Given the description of an element on the screen output the (x, y) to click on. 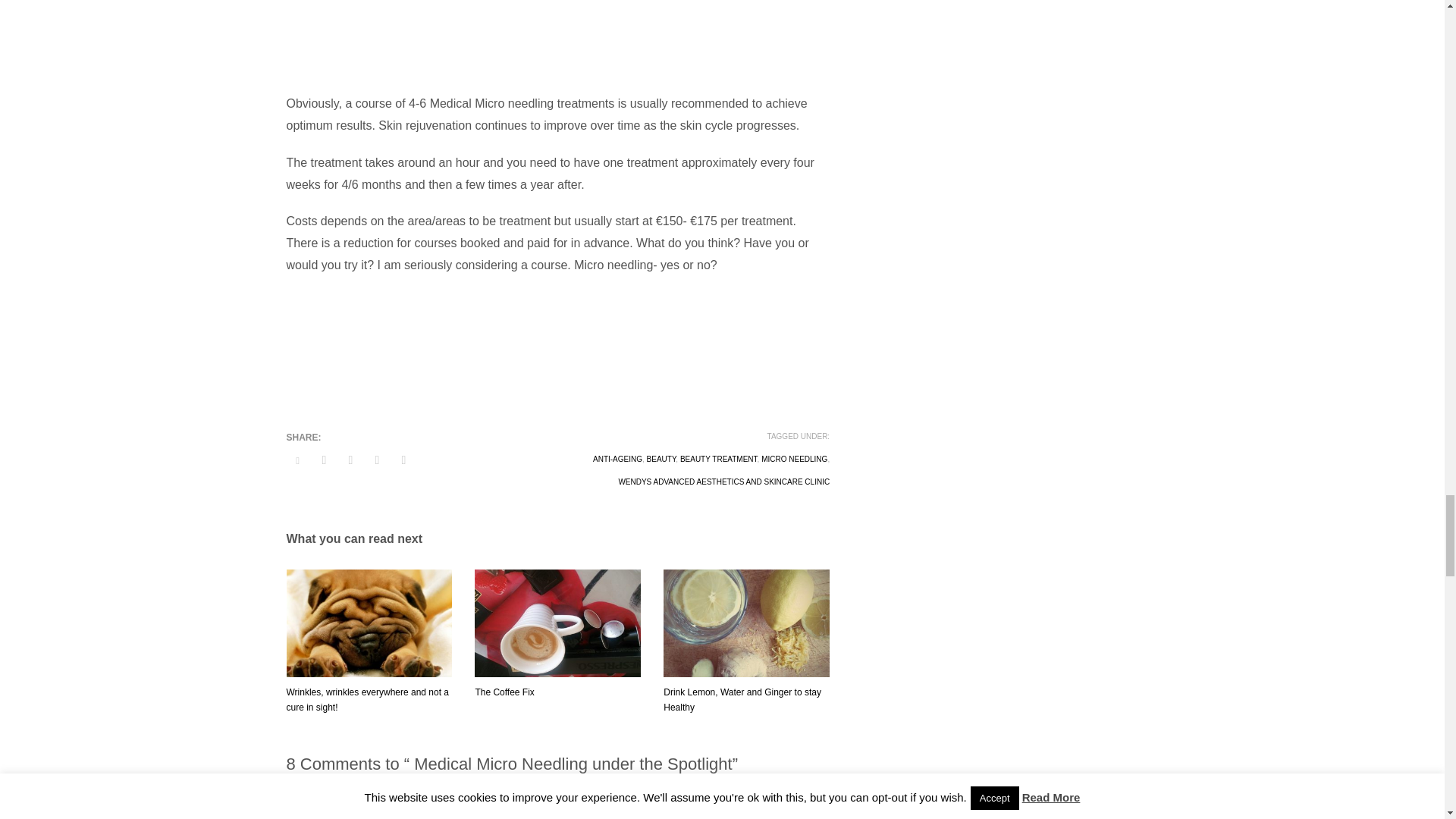
WENDYS ADVANCED AESTHETICS AND SKINCARE CLINIC (723, 481)
SHARE ON MAIL (403, 459)
SHARE ON GPLUS (350, 459)
SHARE ON FACEBOOK (323, 459)
SHARE ON TWITTER (297, 460)
Coffee shot (557, 623)
Robin (344, 800)
The Coffee Fix (504, 692)
ANTI-AGEING (617, 459)
Drink Lemon, Water and Ginger to stay Healthy (742, 699)
MICRO NEEDLING (794, 459)
lemon and ginger (746, 623)
BEAUTY (661, 459)
Wrinkles, wrinkles everywhere and not a cure in sight! (367, 699)
REPLY (817, 800)
